Given the description of an element on the screen output the (x, y) to click on. 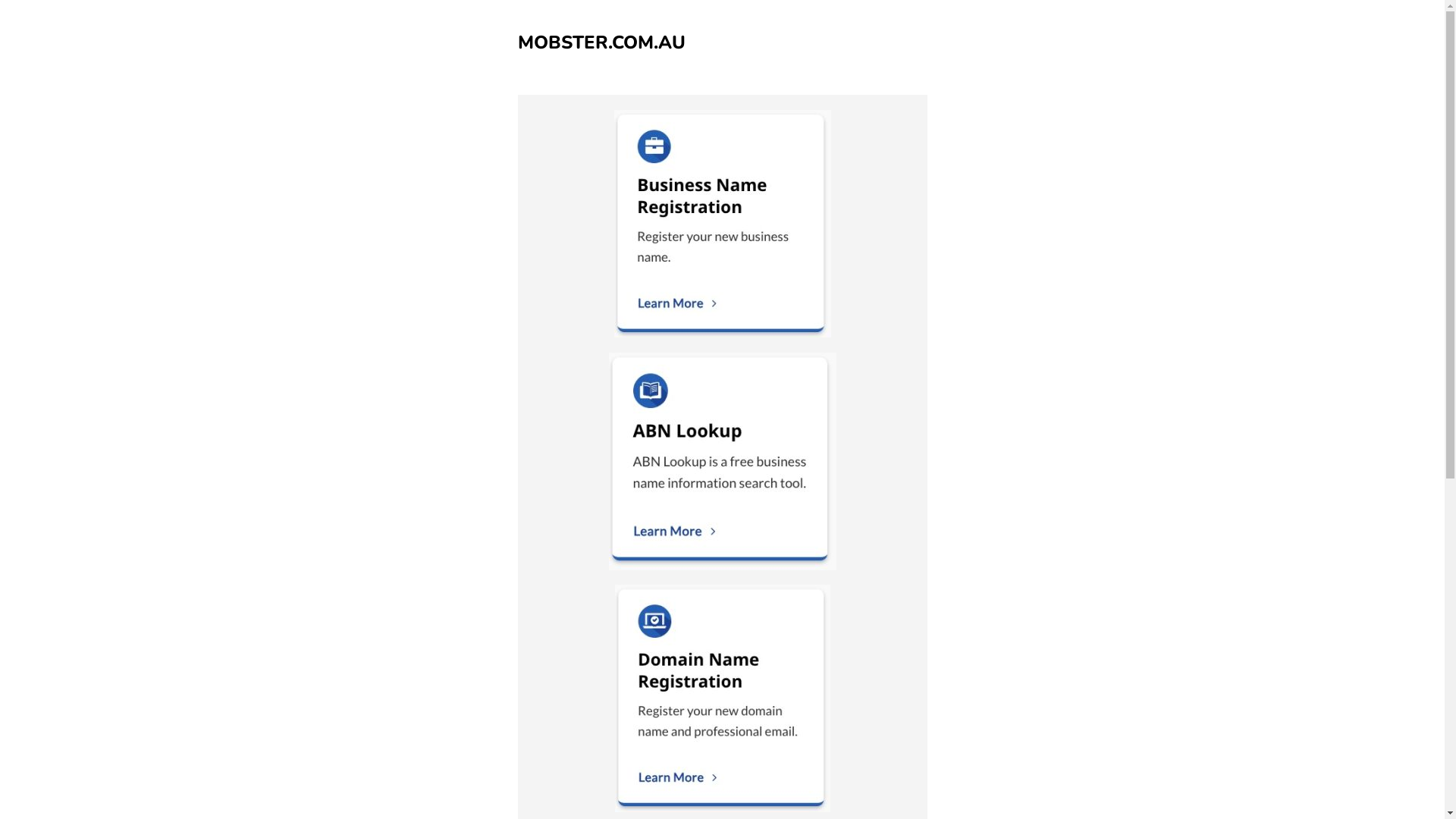
MOBSTER.COM.AU Element type: text (600, 42)
